Given the description of an element on the screen output the (x, y) to click on. 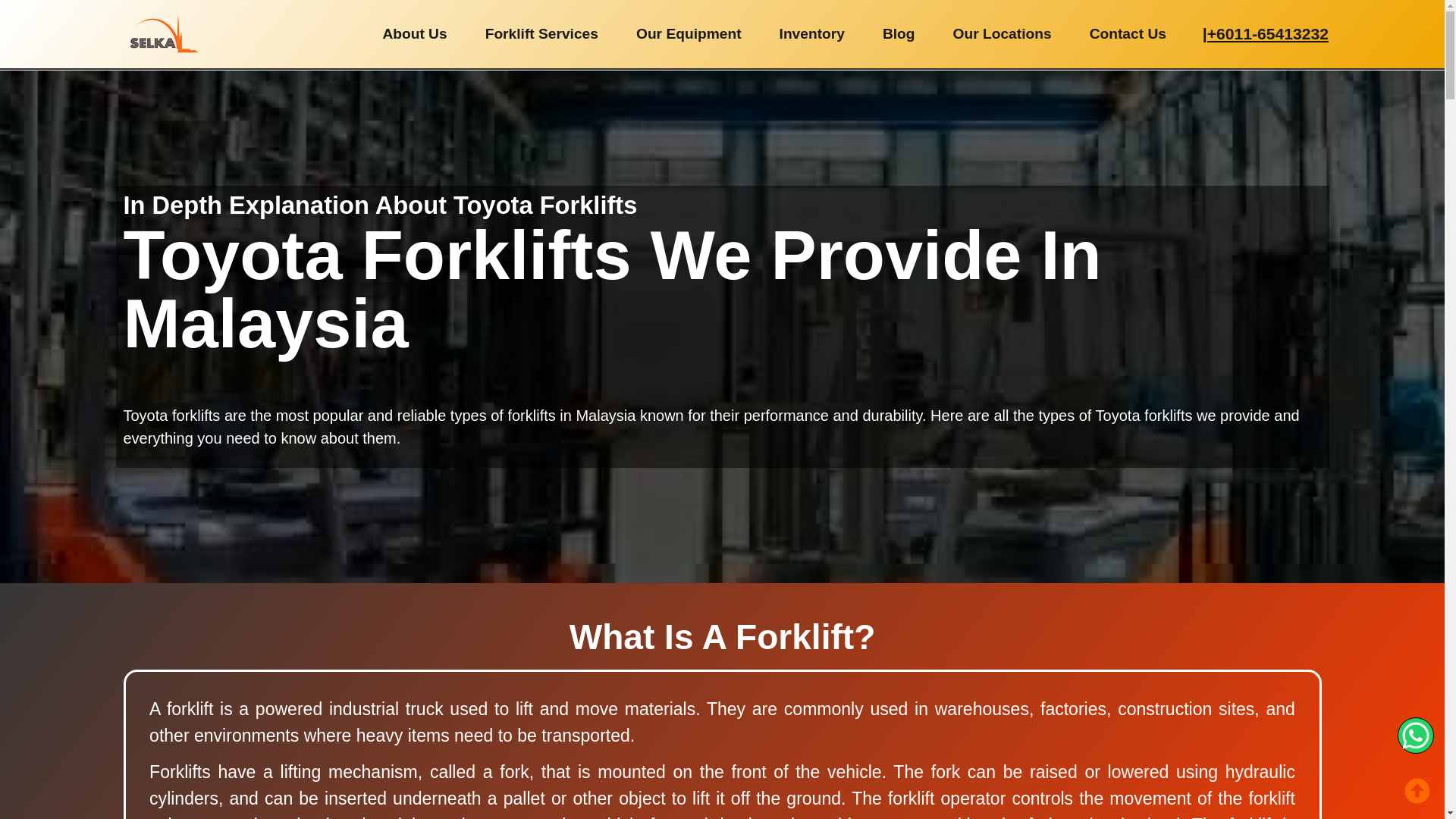
Our Equipment (688, 33)
Contact Us (1127, 33)
Forklift Services (541, 33)
Our Locations (1002, 33)
Inventory (811, 33)
About Us (413, 33)
